Given the description of an element on the screen output the (x, y) to click on. 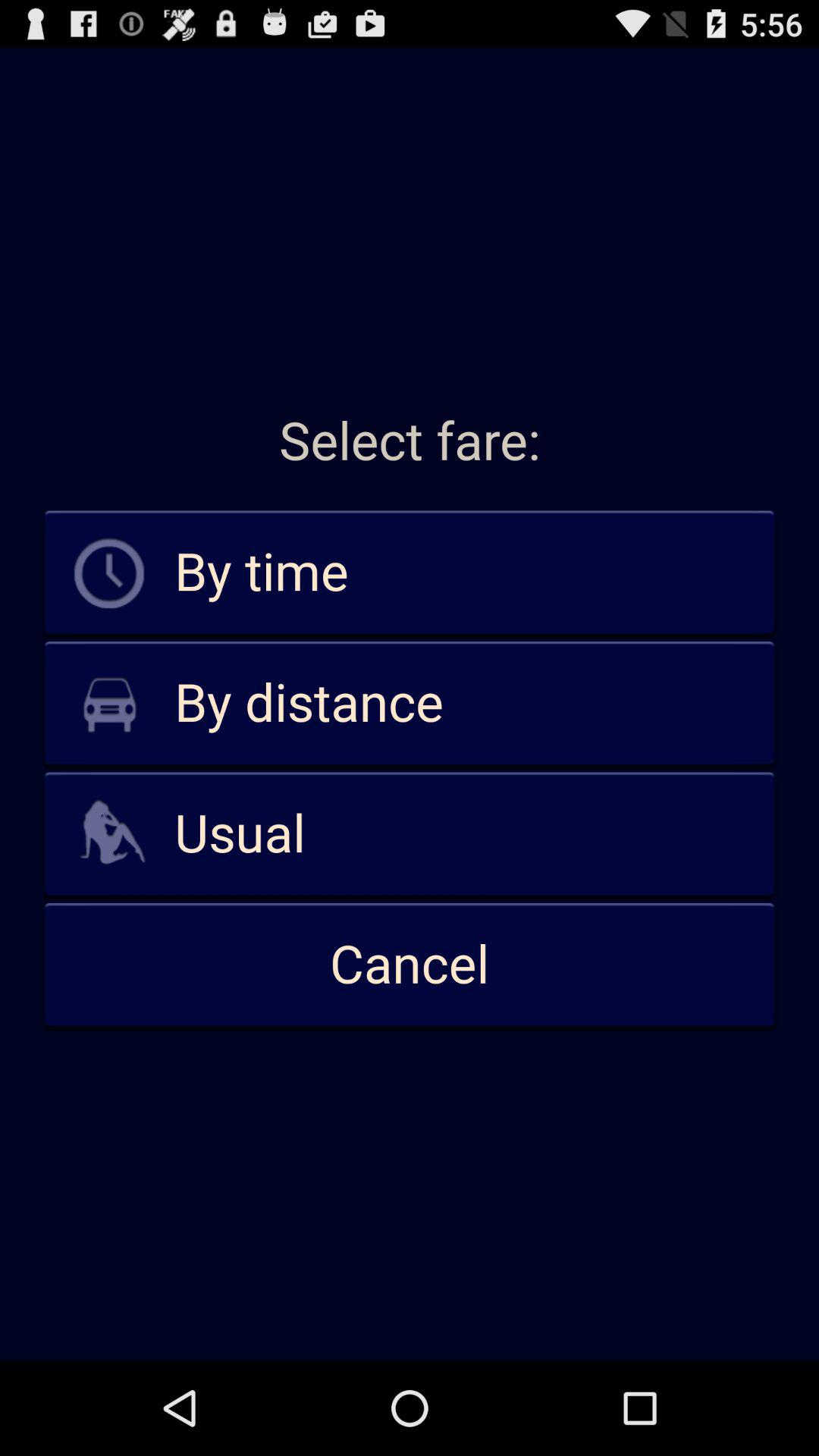
open app below by distance icon (409, 834)
